Given the description of an element on the screen output the (x, y) to click on. 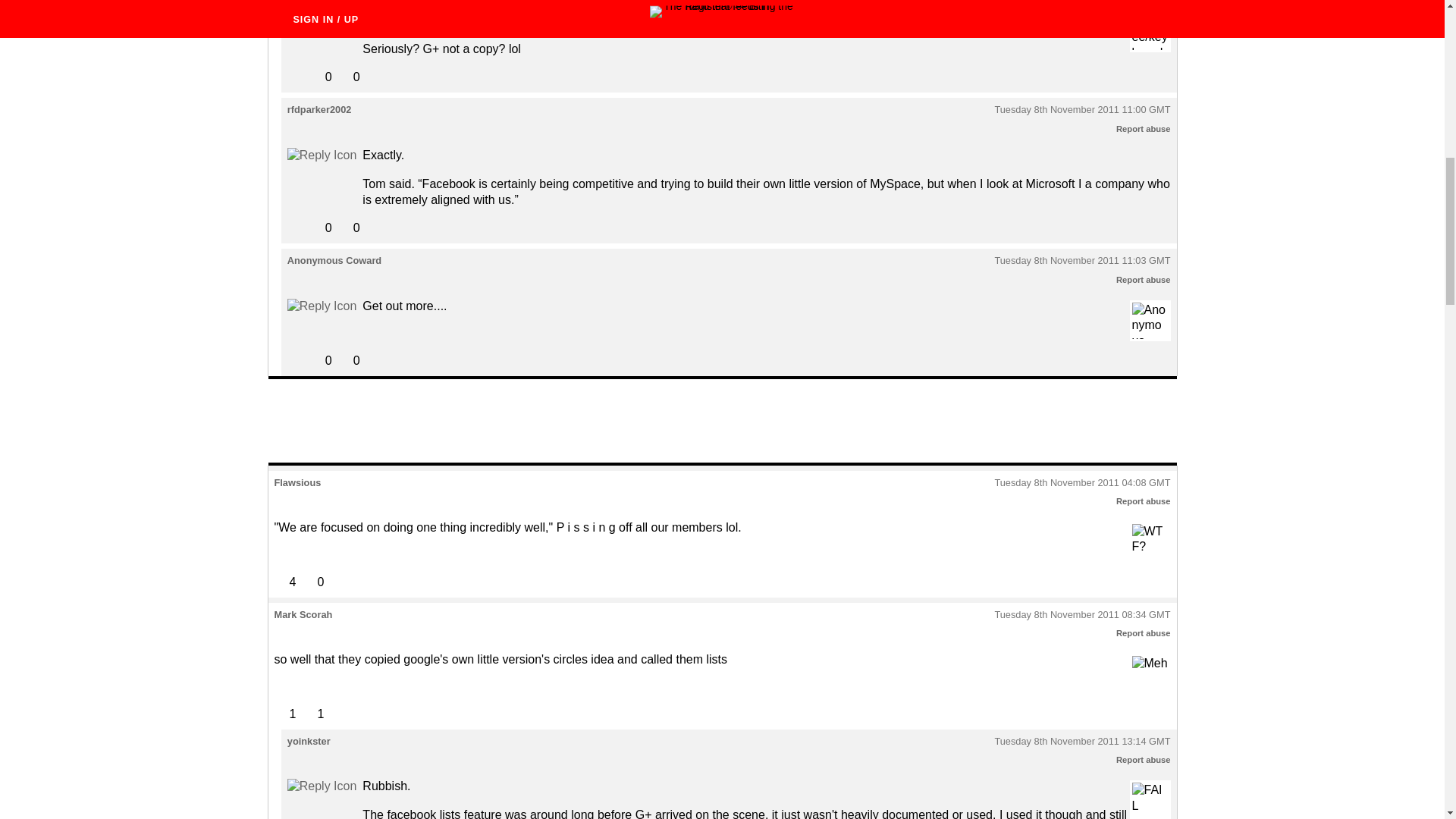
In reply to (321, 18)
Report abuse (1143, 759)
Report abuse (1143, 633)
Report abuse (1143, 501)
You owe me a new keyboard (1149, 31)
Report abuse (1143, 128)
Like this post? Vote for it! (320, 77)
Report abuse (1143, 279)
Dislike this post? Vote it down! (348, 77)
